Given the description of an element on the screen output the (x, y) to click on. 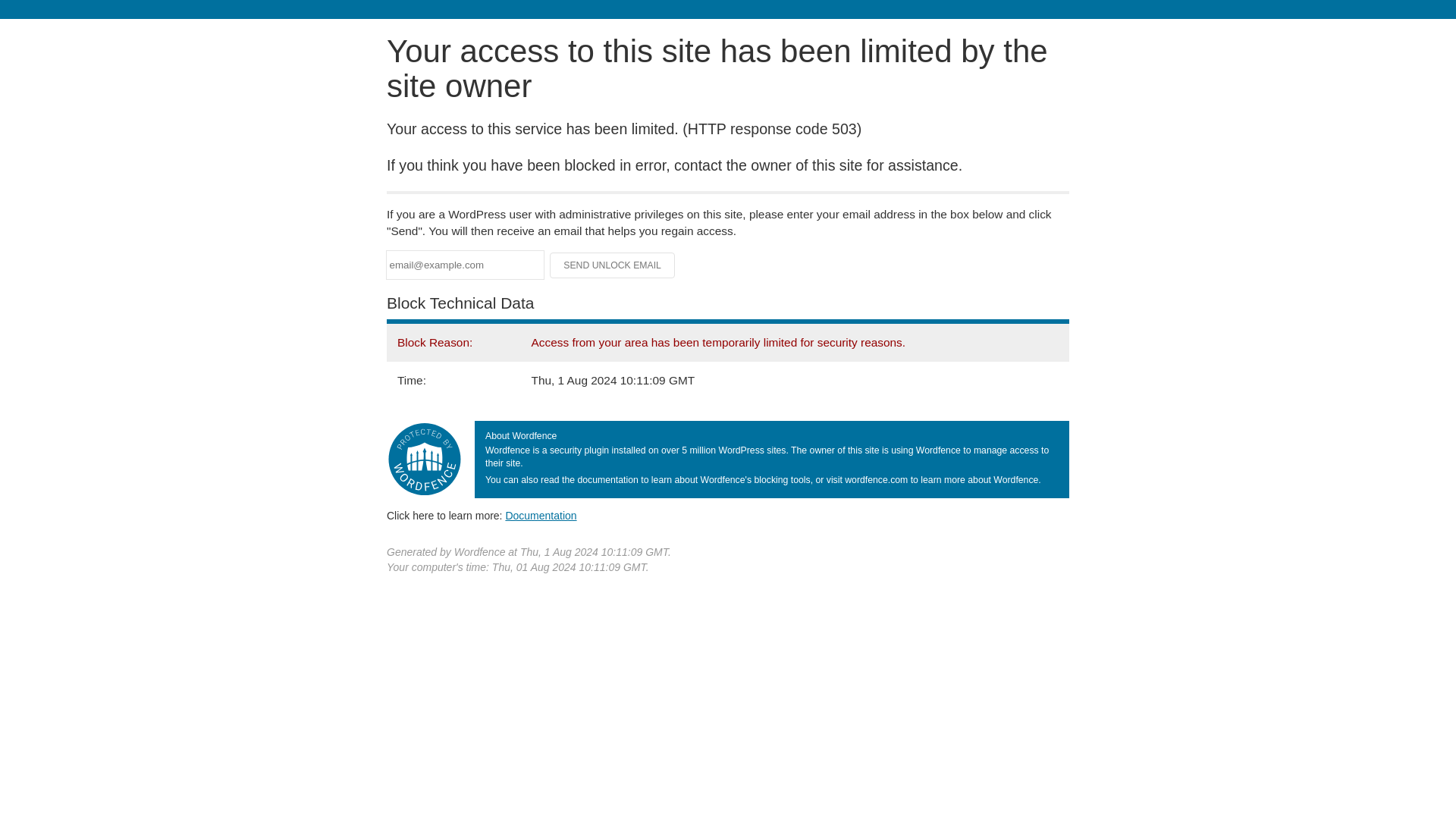
Send Unlock Email (612, 265)
Send Unlock Email (612, 265)
Documentation (540, 515)
